Given the description of an element on the screen output the (x, y) to click on. 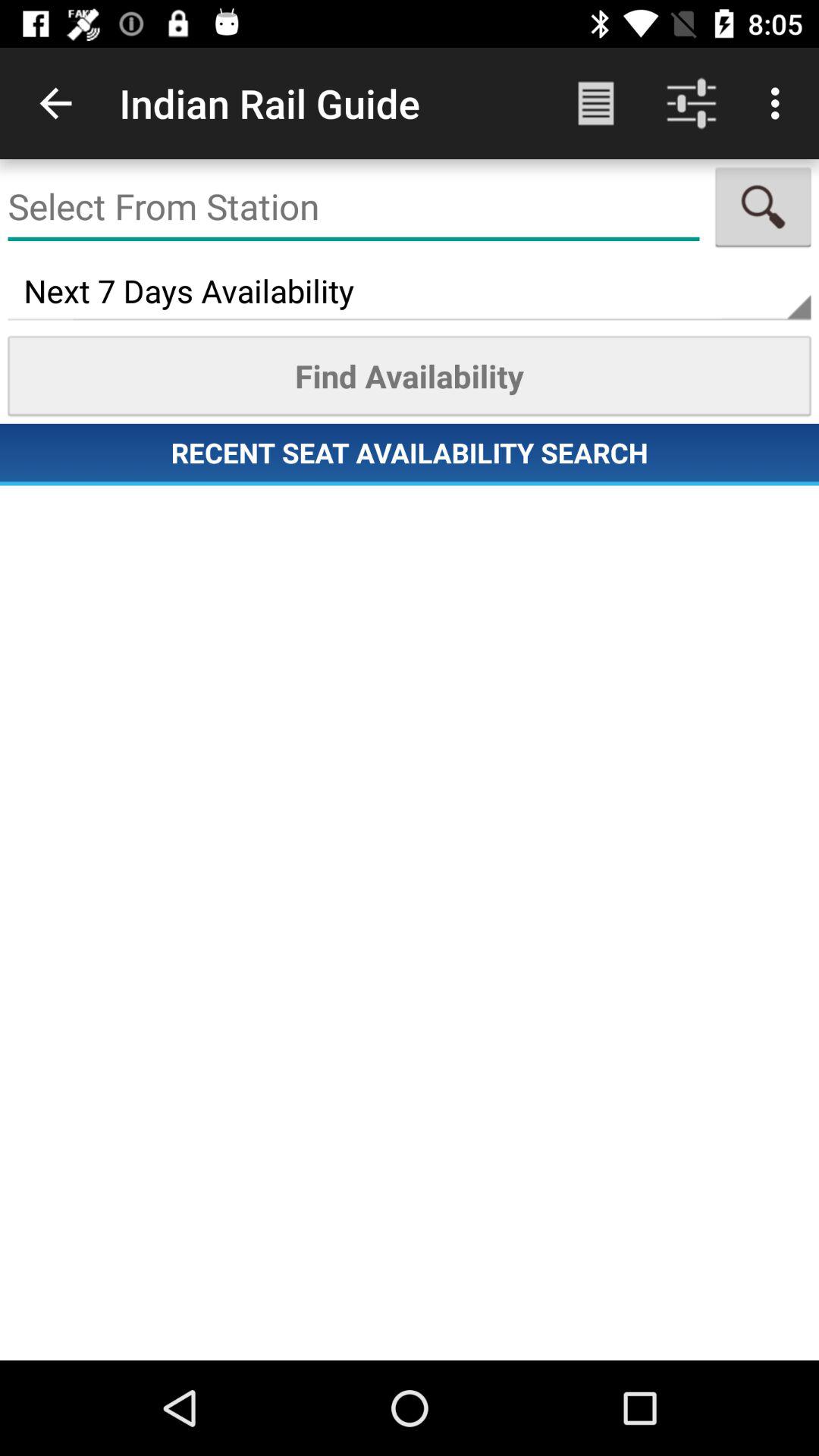
choose the app next to the indian rail guide (595, 103)
